Given the description of an element on the screen output the (x, y) to click on. 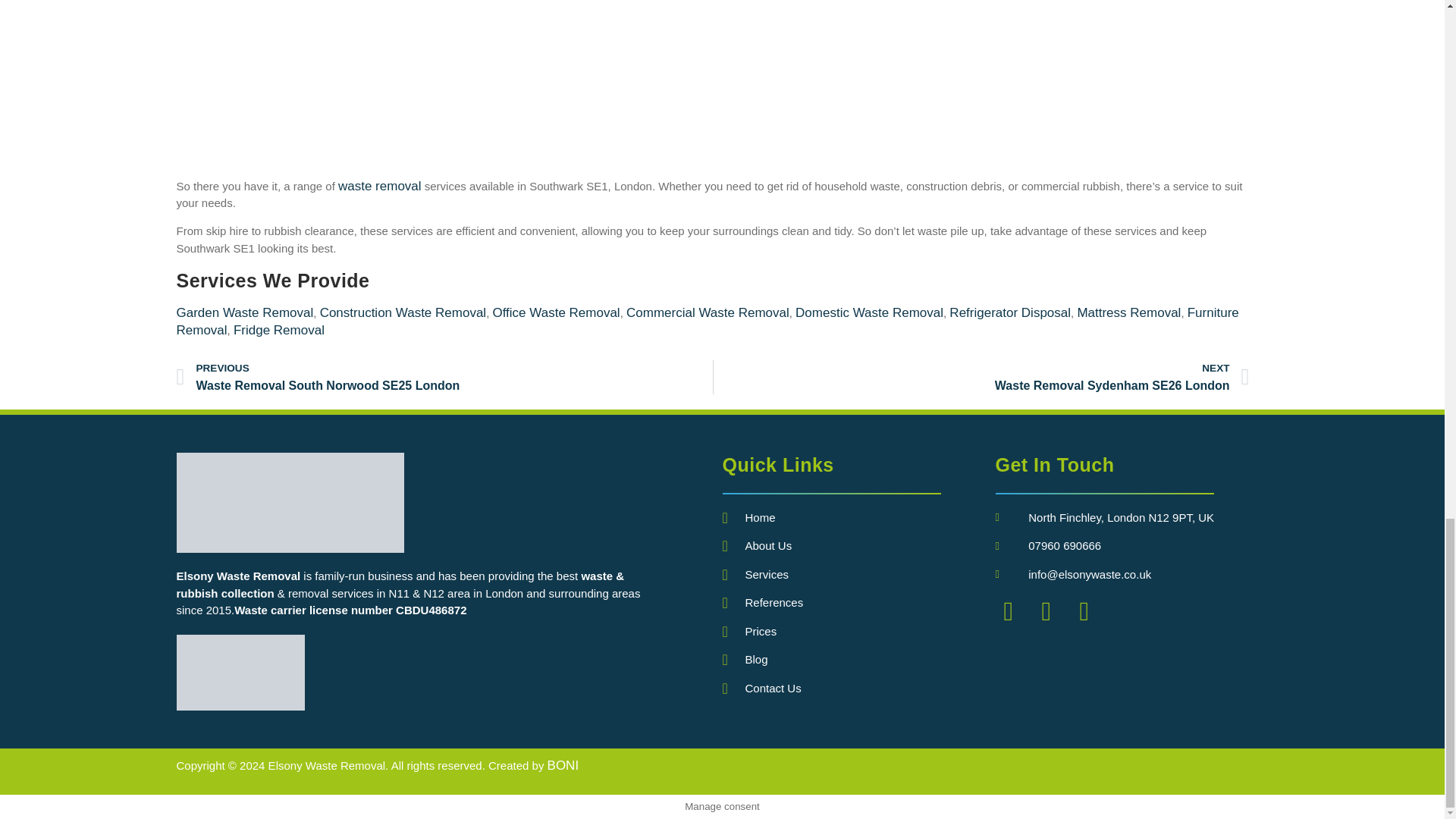
domestic waste removal (868, 312)
Home (858, 518)
Office Waste Removal (556, 312)
Fridge Removal (278, 329)
Furniture Removal (707, 321)
Fridge Removal (278, 329)
construction waste removal (403, 312)
Refrigerator Disposal (1009, 312)
waste removal (379, 186)
Services (858, 574)
office waste removal (556, 312)
References (858, 602)
Prices (858, 631)
Mattress Removal (1128, 312)
Domestic Waste Removal (868, 312)
